Given the description of an element on the screen output the (x, y) to click on. 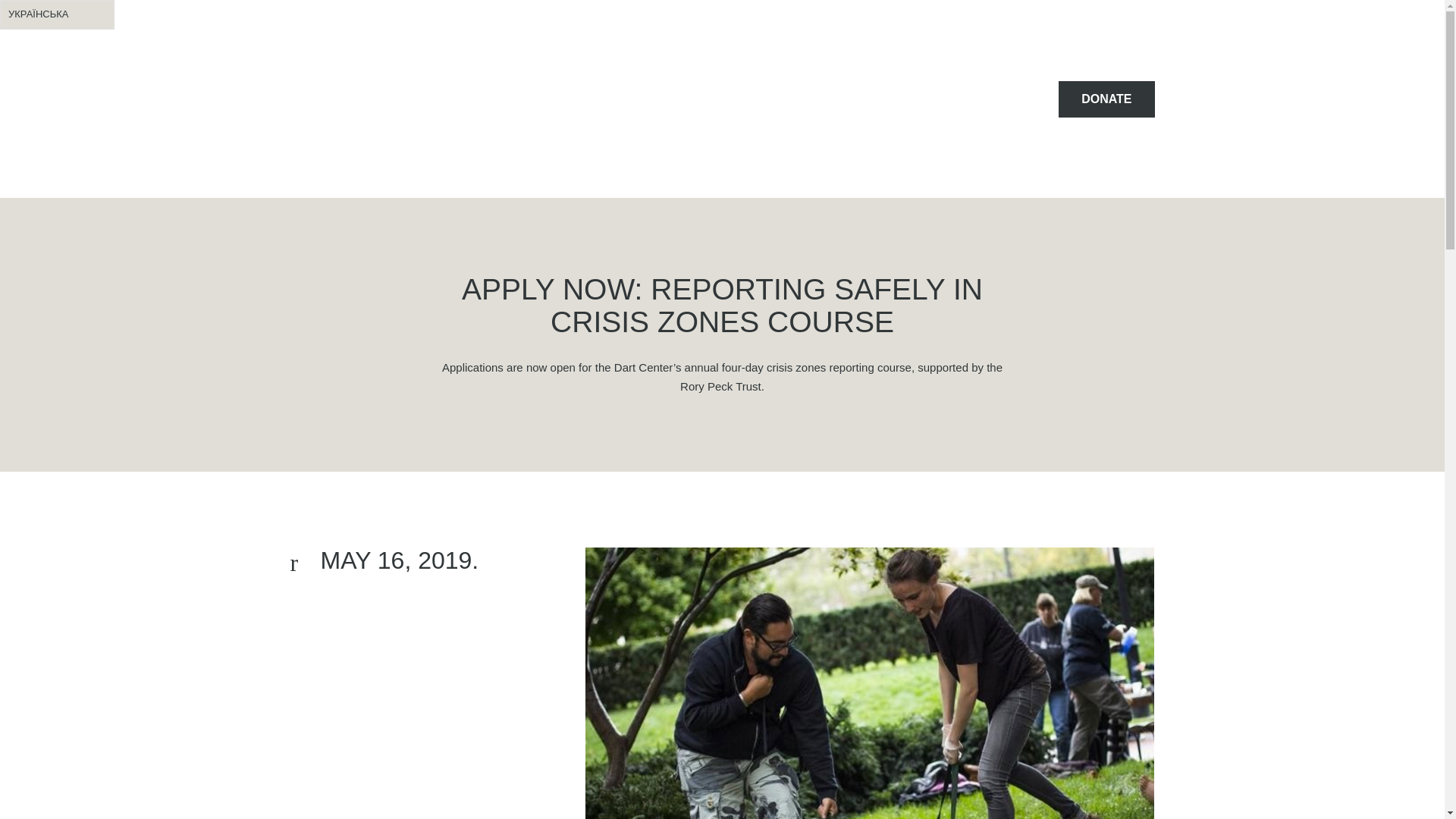
Donate (1106, 98)
